Given the description of an element on the screen output the (x, y) to click on. 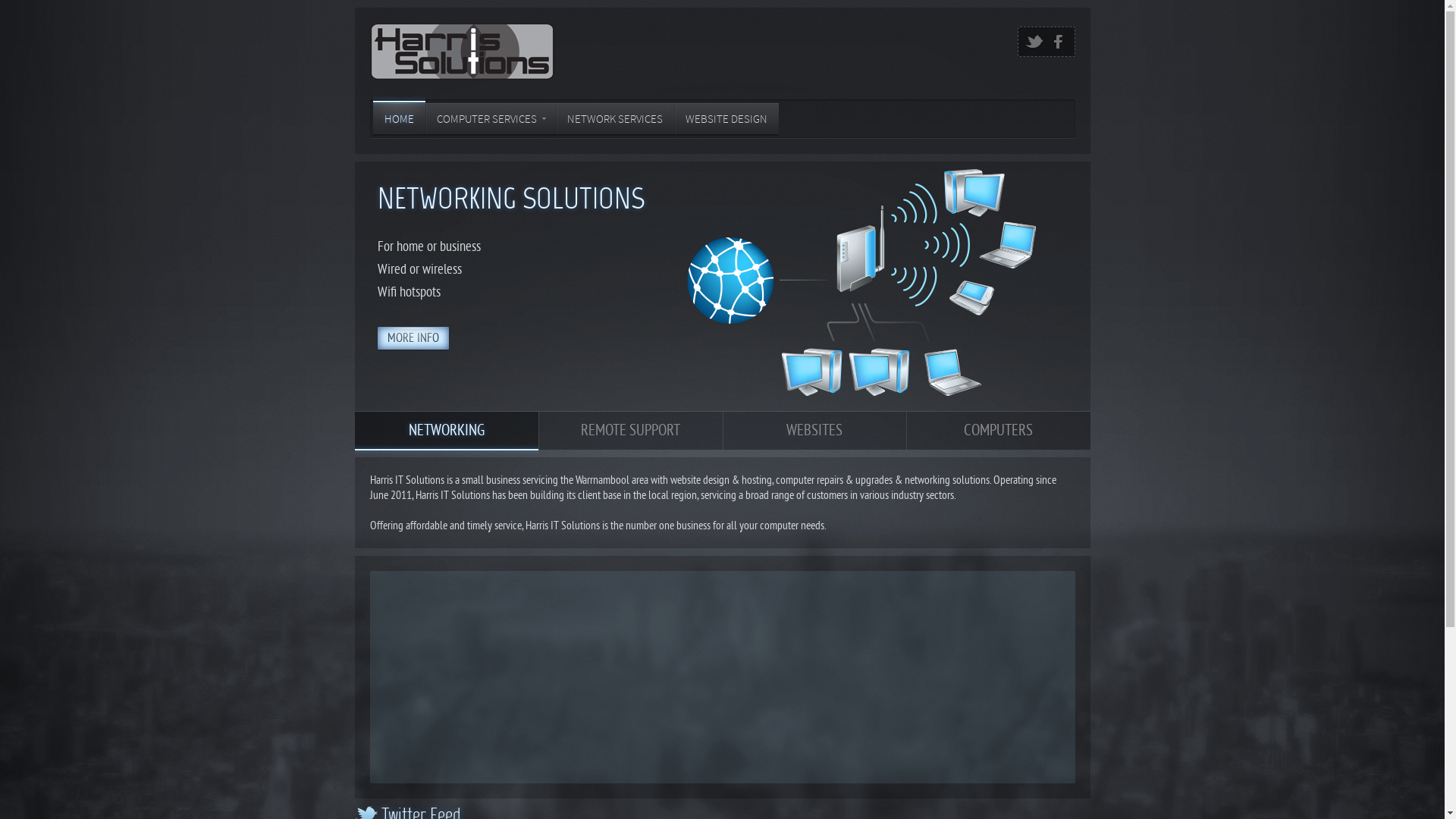
HOME Element type: text (399, 118)
Advertisement Element type: hover (722, 677)
COMPUTER SERVICES Element type: text (489, 118)
NETWORK SERVICES Element type: text (614, 118)
WEBSITE DESIGN Element type: text (725, 118)
MORE INFO Element type: text (412, 337)
